Given the description of an element on the screen output the (x, y) to click on. 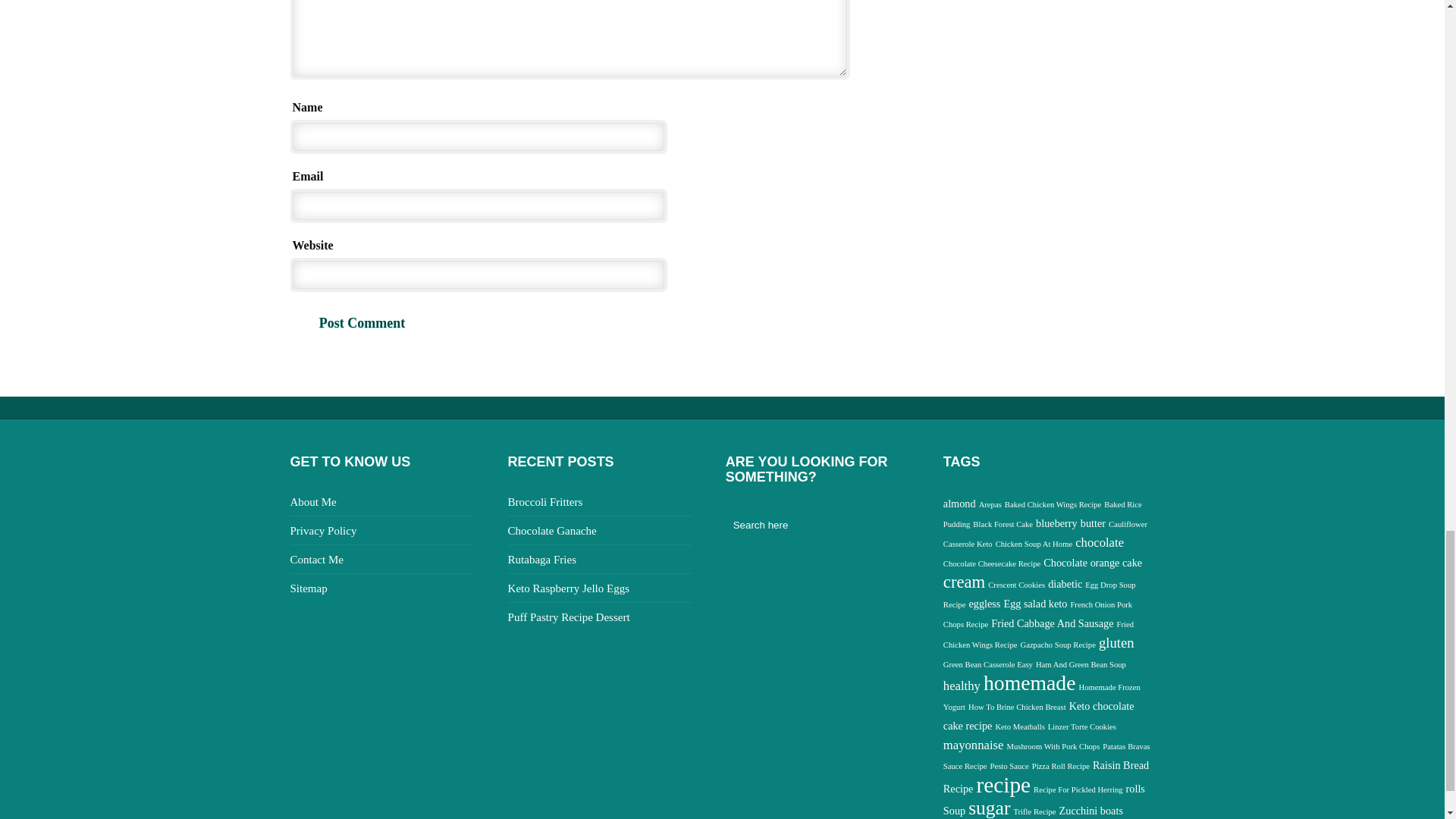
Contact Me (315, 559)
Rutabaga Fries (542, 559)
About Me (312, 501)
Chocolate Ganache (552, 530)
Post Comment (362, 323)
Broccoli Fritters (545, 501)
Privacy Policy (322, 530)
Sitemap (307, 588)
Post Comment (362, 323)
Search here (808, 524)
SEARCH (903, 524)
